Given the description of an element on the screen output the (x, y) to click on. 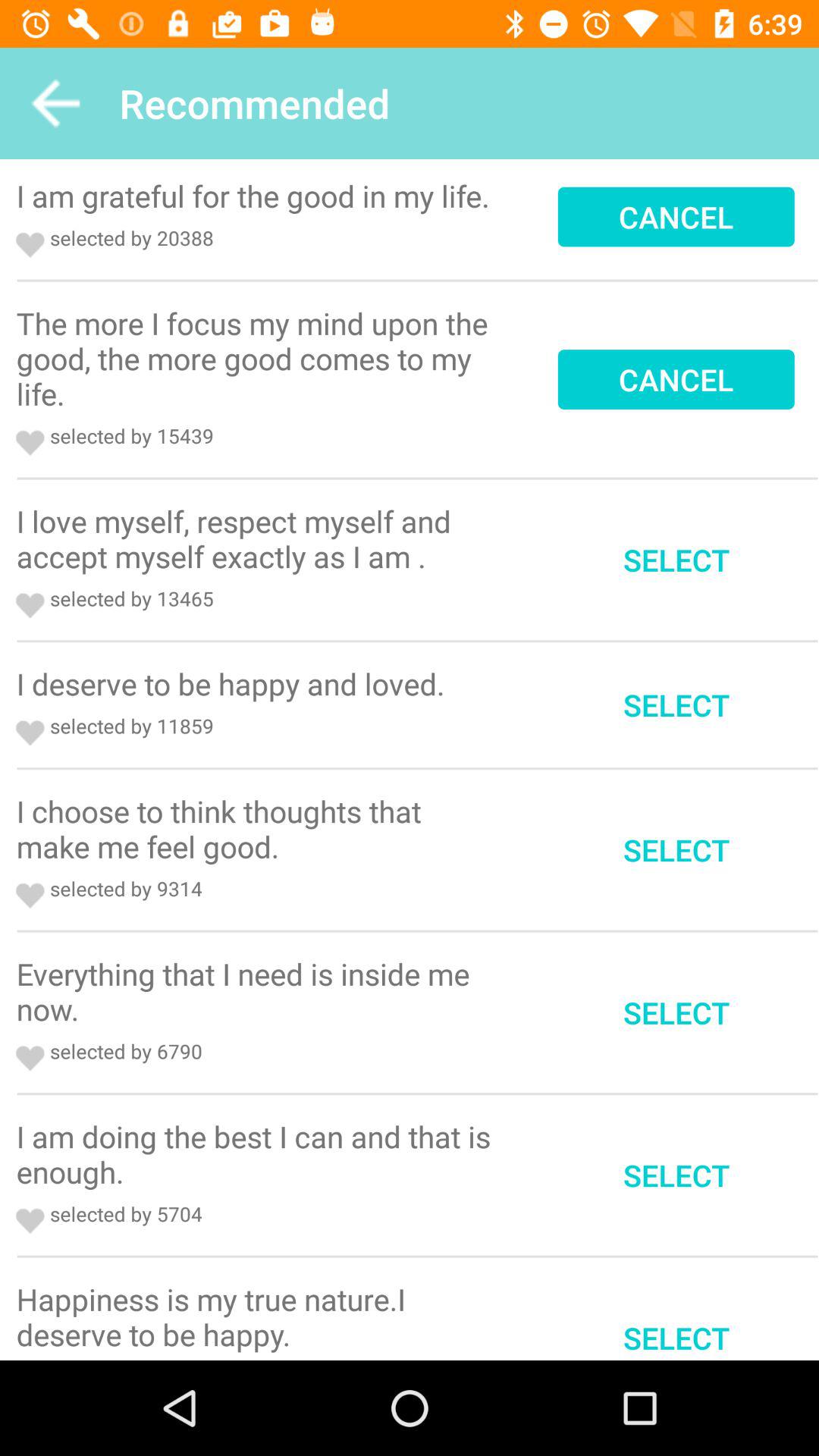
open the icon to the left of the select item (258, 1316)
